Given the description of an element on the screen output the (x, y) to click on. 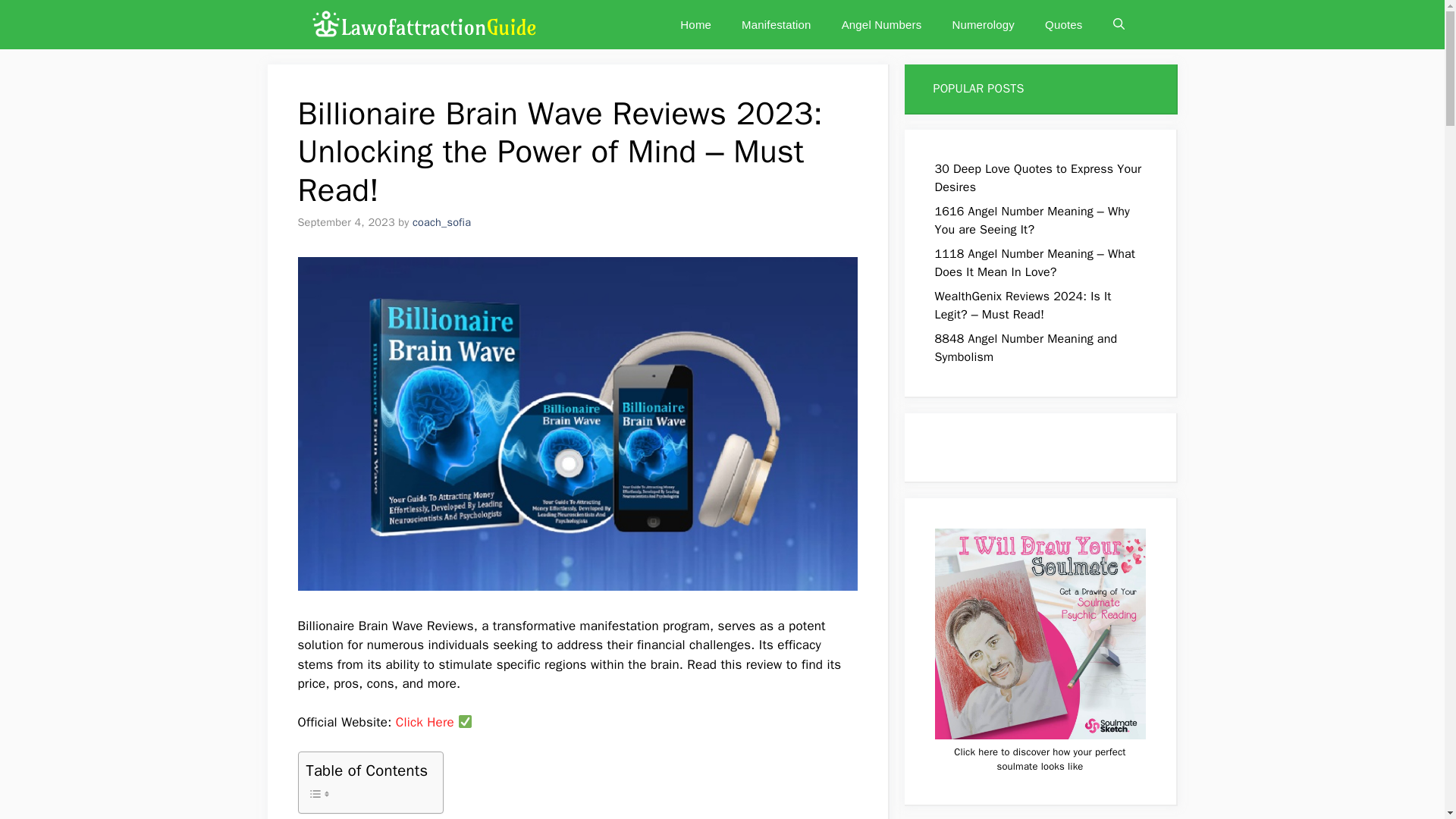
Angel Numbers (882, 23)
Click Here (425, 722)
8848 Angel Number Meaning and Symbolism (1025, 347)
Click here to discover how your perfect soulmate looks like (1039, 758)
Law of Attraction Guide (422, 24)
Manifestation (776, 23)
30 Deep Love Quotes to Express Your Desires (1037, 177)
Home (695, 23)
Quotes (1063, 23)
Numerology (982, 23)
